Given the description of an element on the screen output the (x, y) to click on. 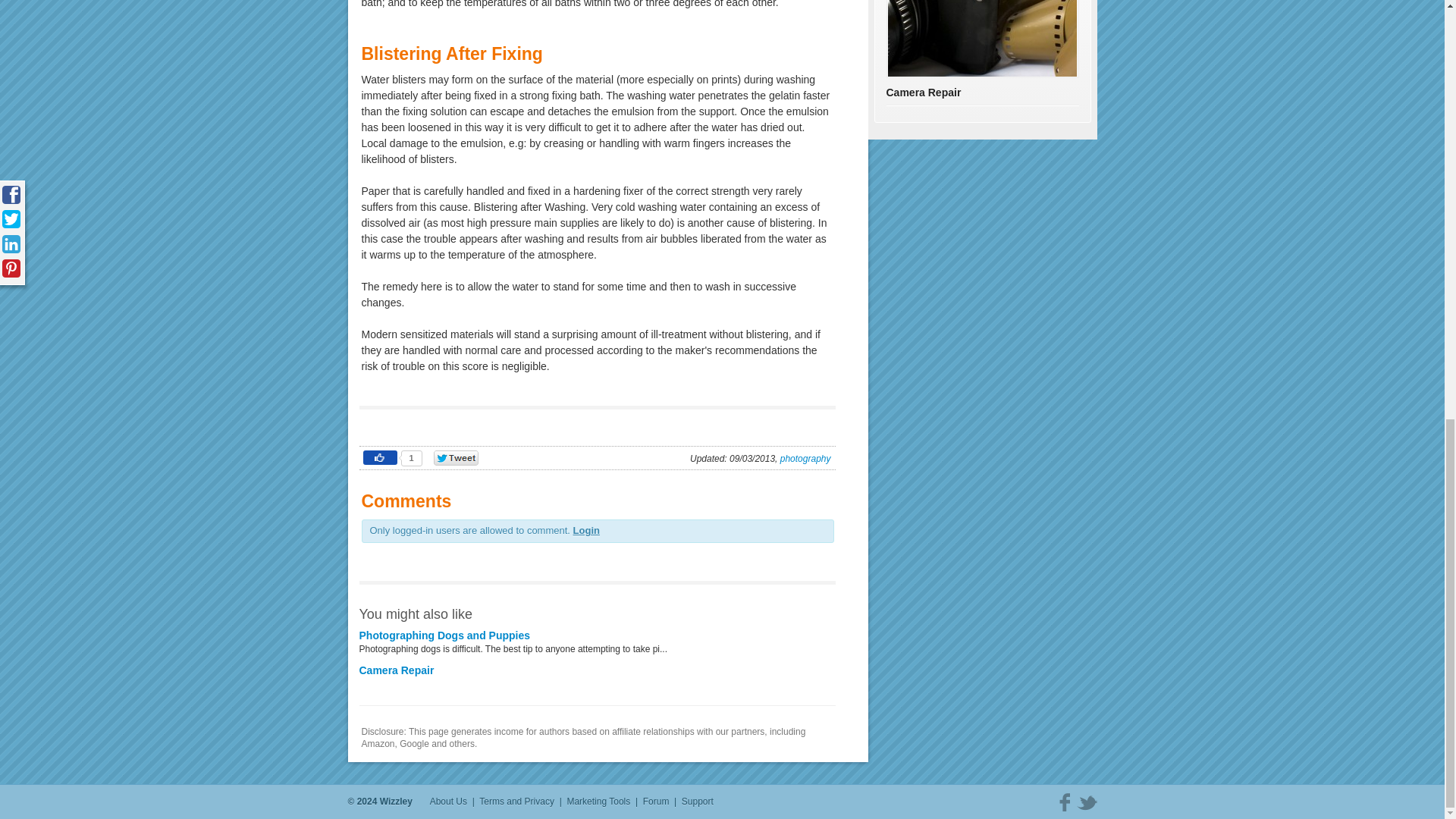
photography (805, 458)
Login (586, 530)
Camera Repair (396, 670)
Photographing Dogs and Puppies (445, 635)
Twitter (1087, 802)
